Given the description of an element on the screen output the (x, y) to click on. 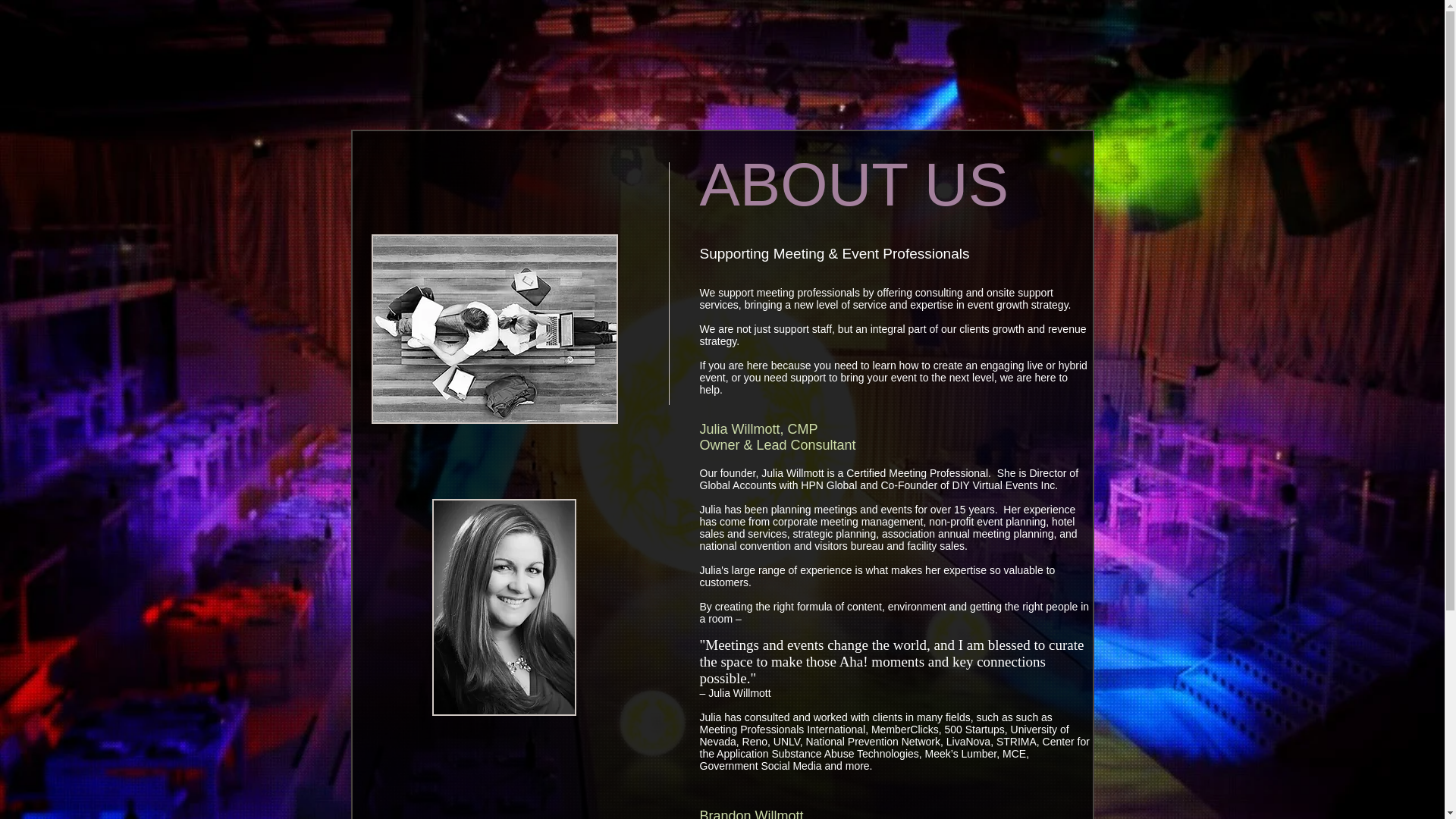
BW students doing work (494, 329)
